Given the description of an element on the screen output the (x, y) to click on. 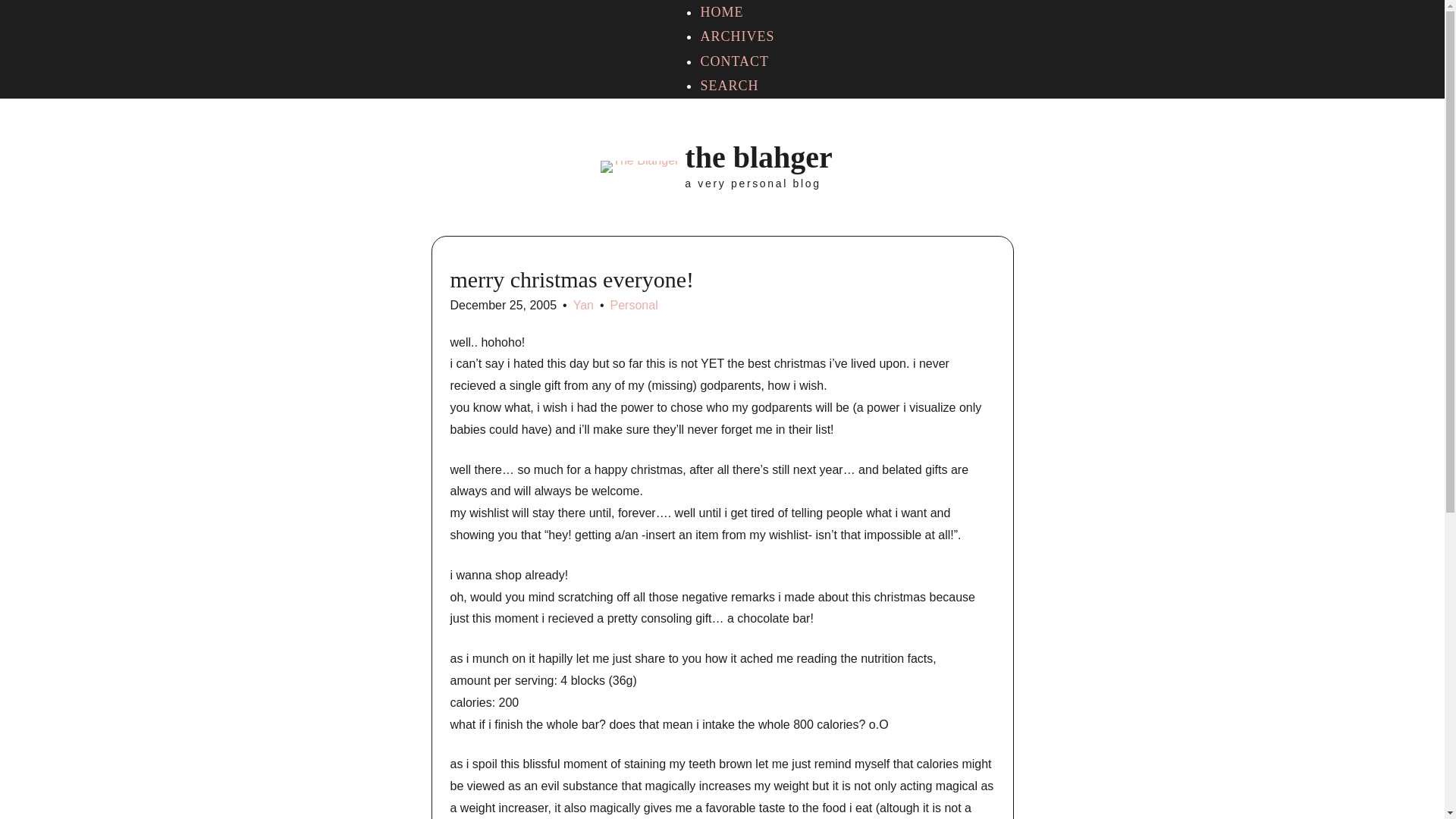
Personal (634, 305)
Yan (583, 305)
the blahger (757, 157)
ARCHIVES (737, 36)
HOME (721, 11)
SEARCH (729, 85)
CONTACT (734, 61)
